Given the description of an element on the screen output the (x, y) to click on. 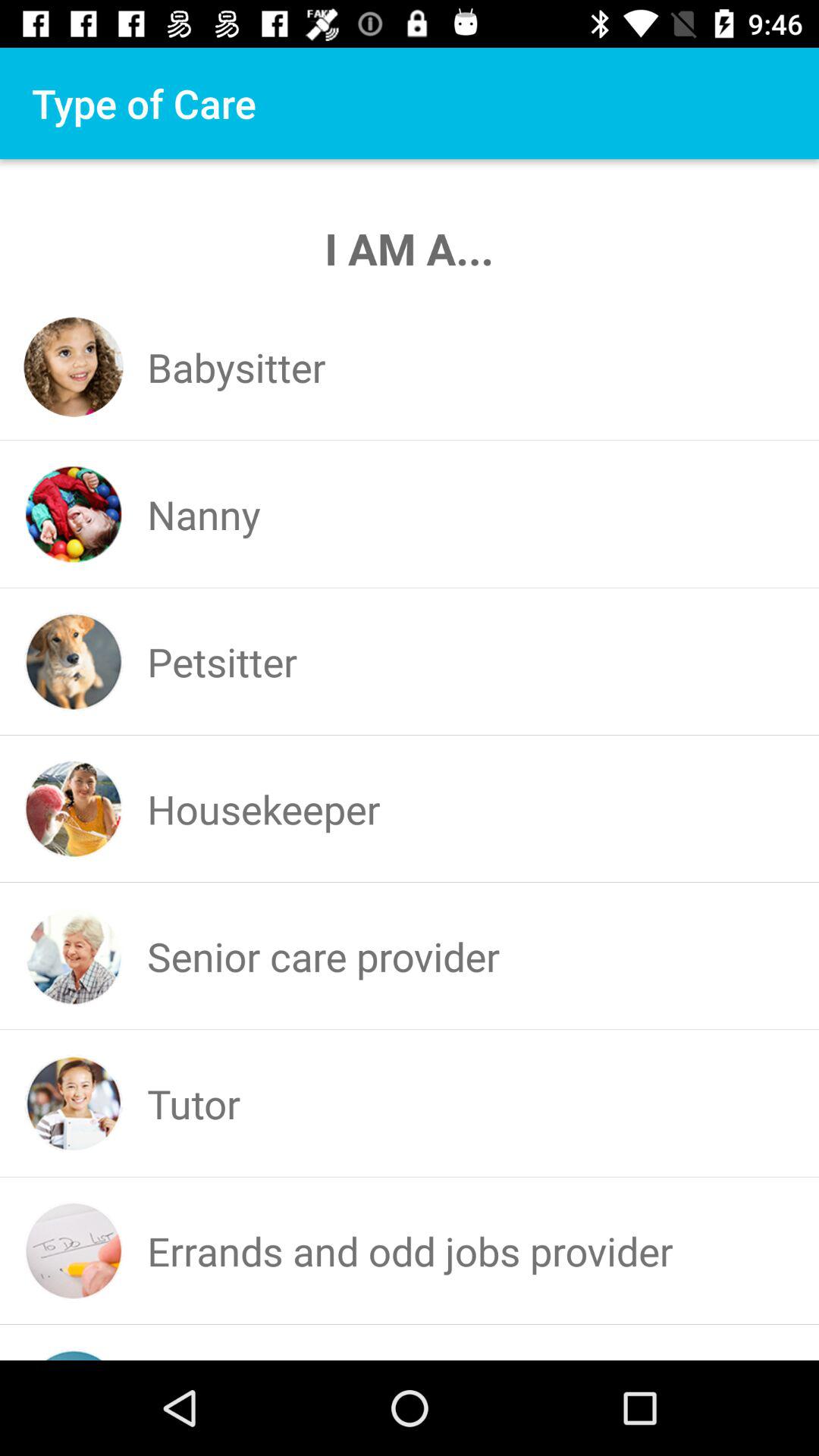
swipe until senior care provider item (323, 955)
